Given the description of an element on the screen output the (x, y) to click on. 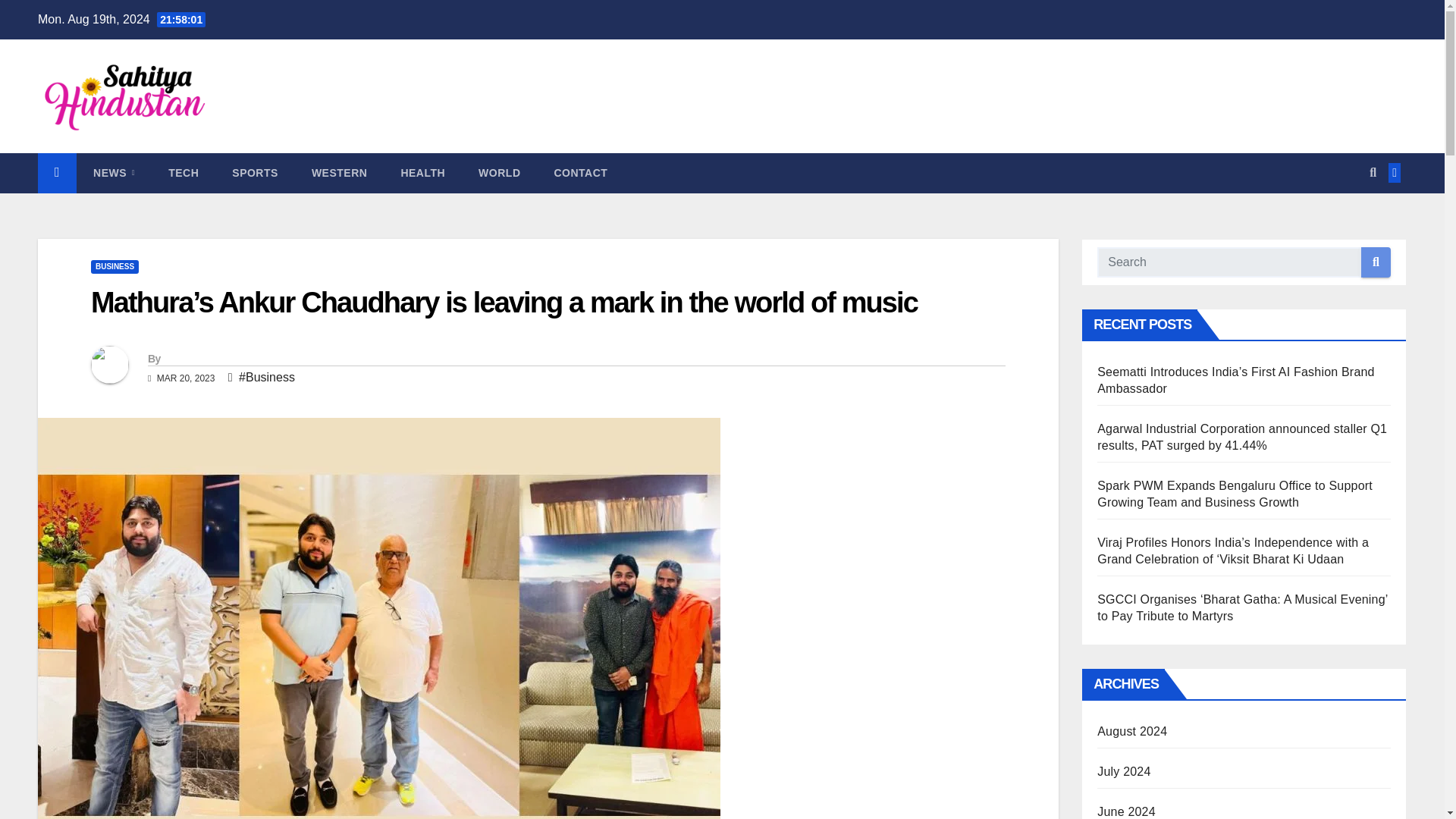
Sports (255, 172)
HEALTH (422, 172)
BUSINESS (114, 266)
WORLD (499, 172)
CONTACT (580, 172)
News (114, 172)
Tech (183, 172)
TECH (183, 172)
Contact (580, 172)
Western (339, 172)
